Given the description of an element on the screen output the (x, y) to click on. 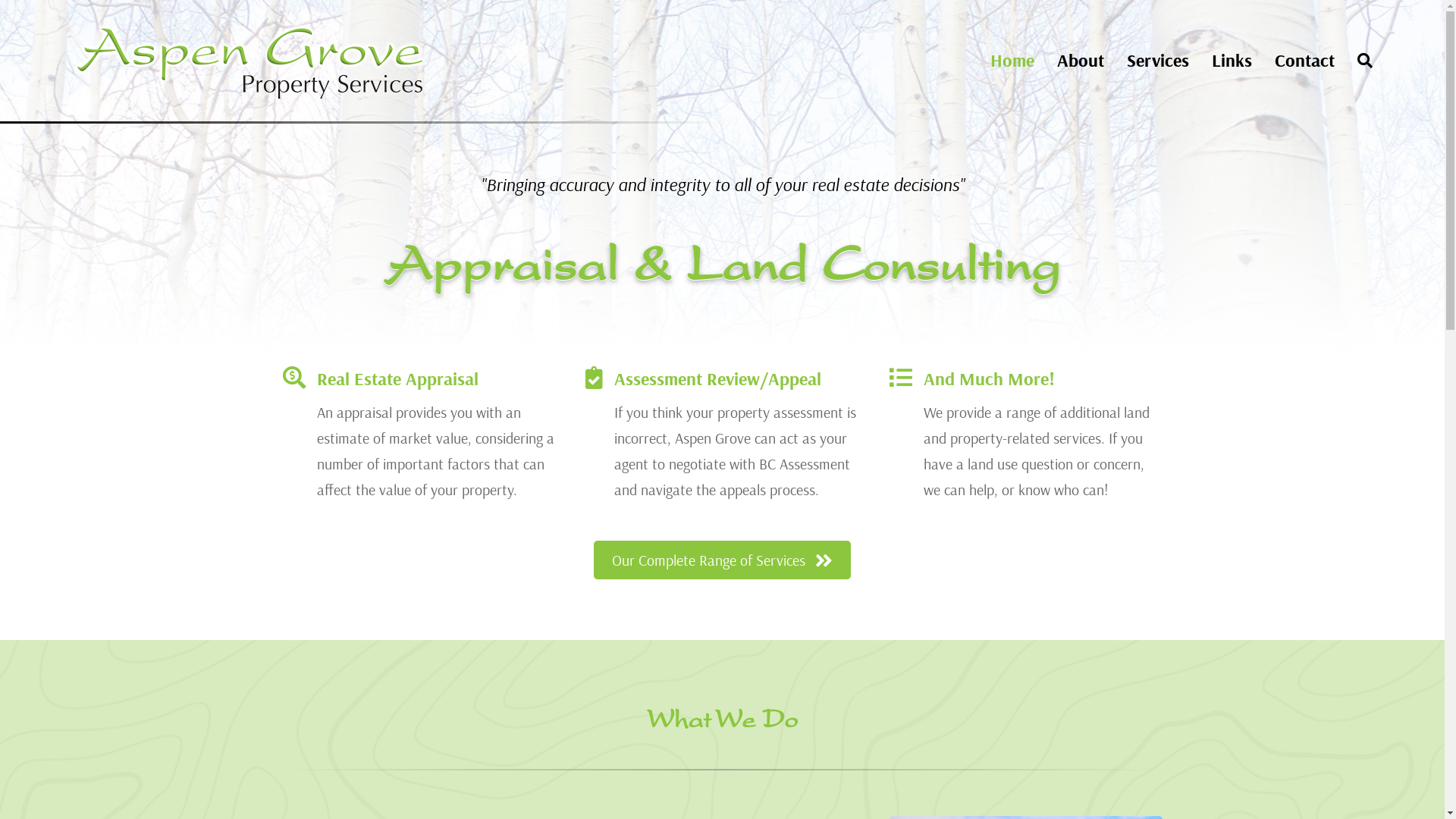
Real Estate Appraisal Element type: text (397, 378)
Contact Element type: text (1304, 60)
Home Element type: text (1012, 60)
Links Element type: text (1231, 60)
Assessment Review/Appeal Element type: text (717, 378)
And Much More! Element type: text (988, 378)
Our Complete Range of Services Element type: text (721, 559)
Services Element type: text (1157, 60)
About Element type: text (1080, 60)
